Given the description of an element on the screen output the (x, y) to click on. 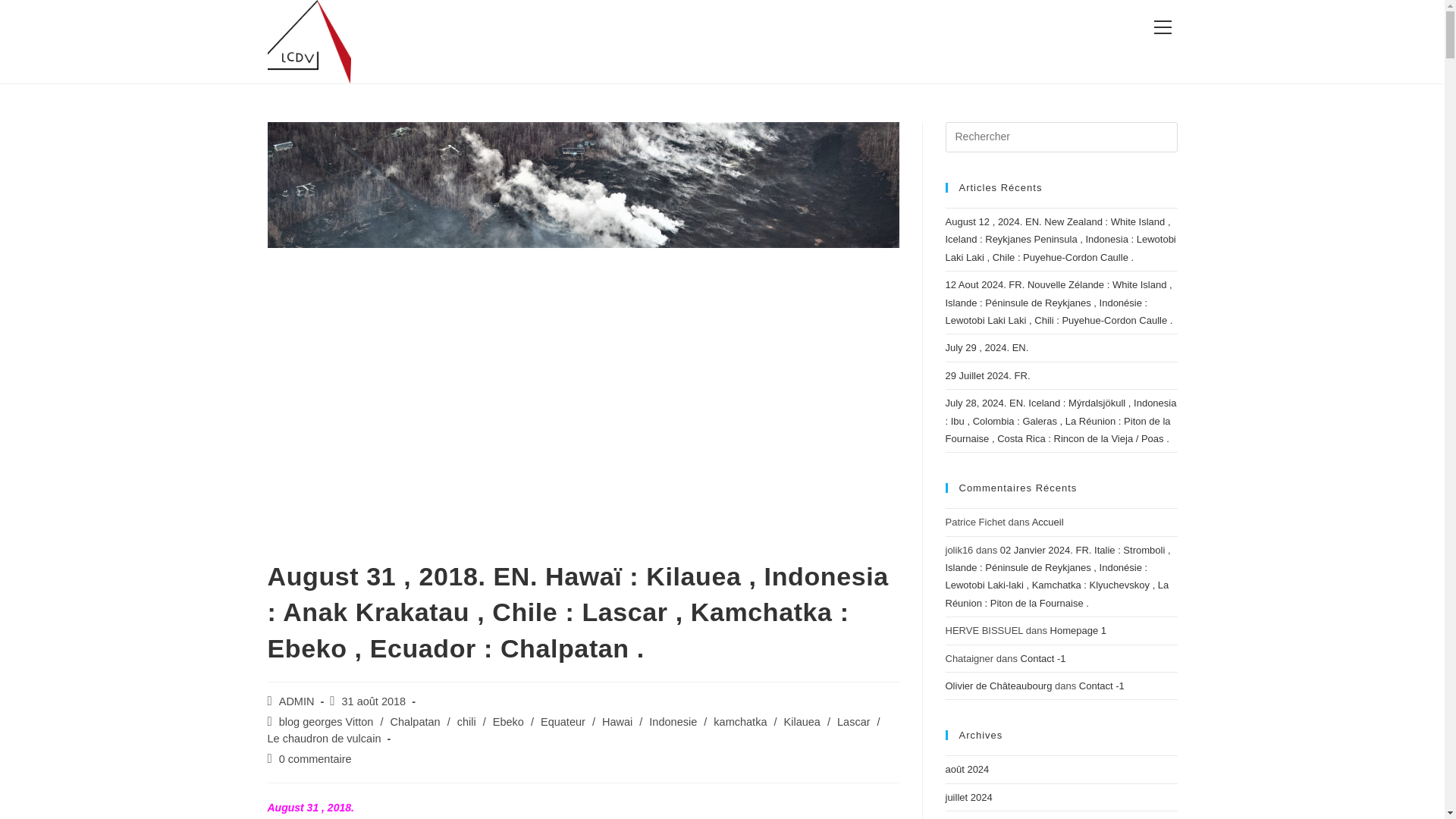
Indonesie (673, 721)
ADMIN (296, 701)
Equateur (562, 721)
Le chaudron de vulcain (323, 738)
Kilauea (802, 721)
blog georges Vitton (326, 721)
Hawai (616, 721)
0 commentaire (315, 758)
Lascar (853, 721)
View website Menu (1162, 27)
